Given the description of an element on the screen output the (x, y) to click on. 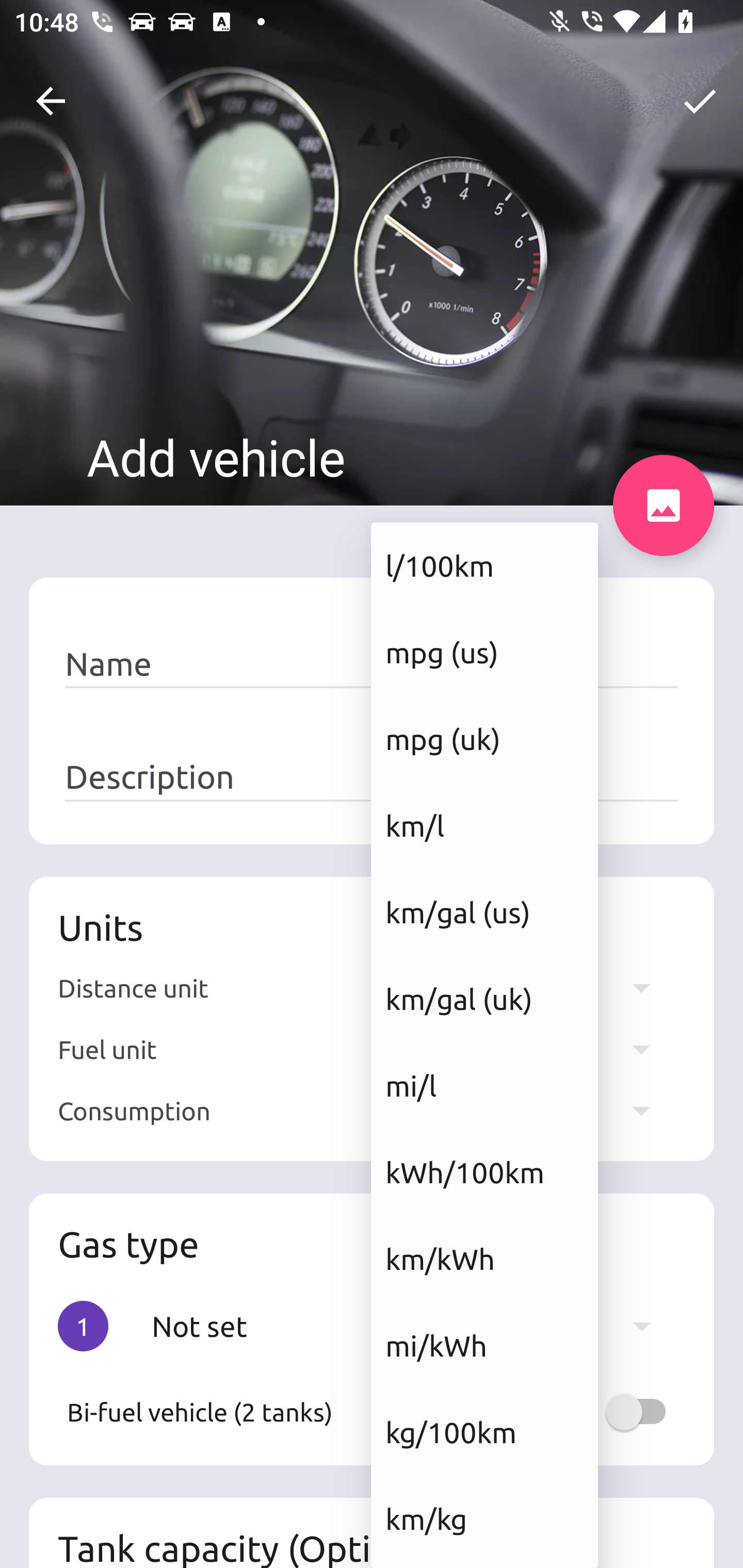
l/100km (484, 565)
mpg (us) (484, 652)
mpg (uk) (484, 739)
km/l (484, 825)
km/gal (us) (484, 912)
km/gal (uk) (484, 999)
mi/l (484, 1085)
kWh/100km (484, 1171)
km/kWh (484, 1259)
mi/kWh (484, 1346)
kg/100km (484, 1432)
km/kg (484, 1518)
